Given the description of an element on the screen output the (x, y) to click on. 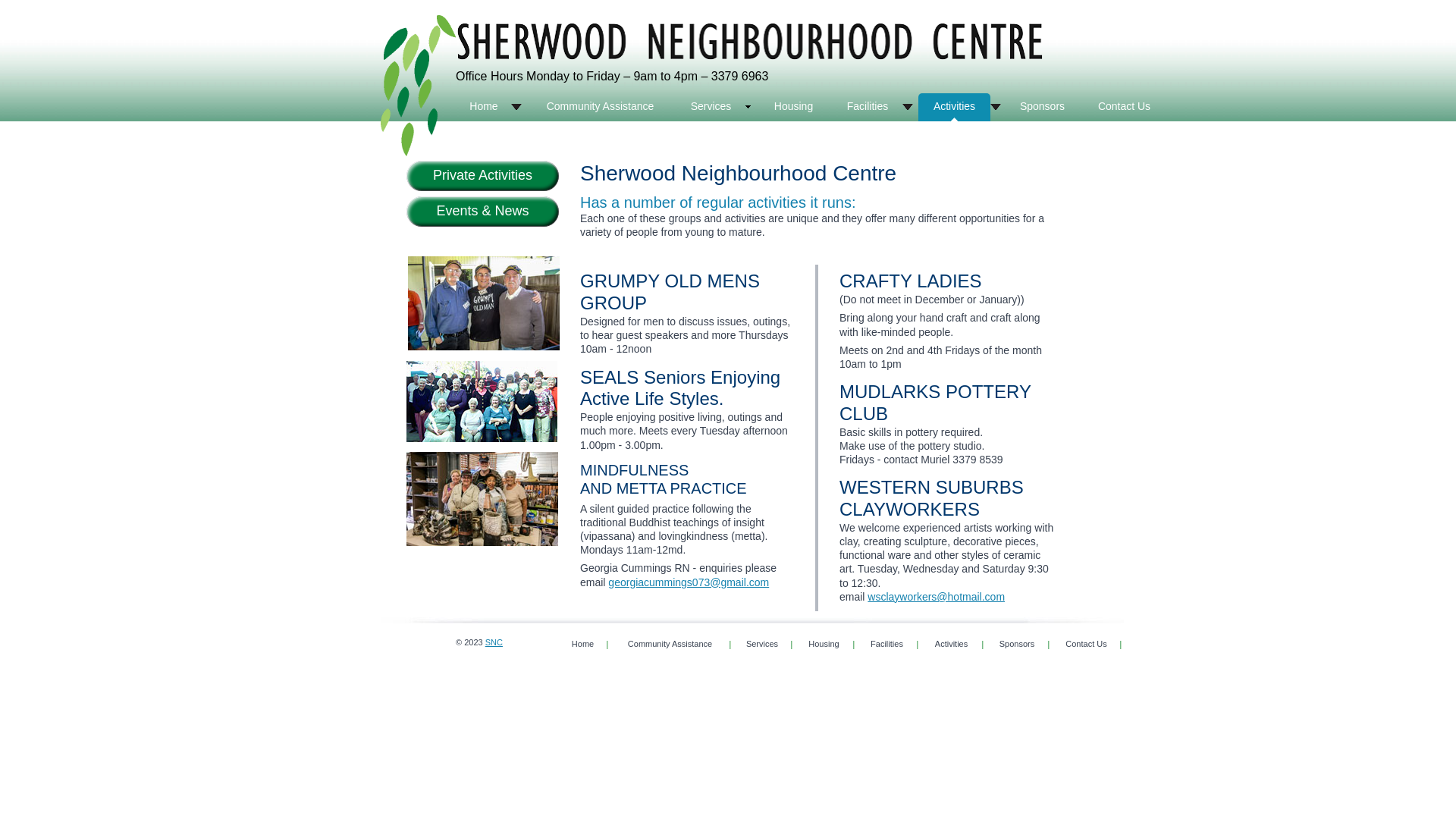
Home Element type: text (583, 643)
Sponsors Element type: text (1042, 107)
wsclayworkers@hotmail.com Element type: text (935, 596)
Community Assistance Element type: text (670, 643)
Services Element type: text (716, 107)
Events & News Element type: text (482, 211)
Contact Us Element type: text (1123, 107)
Housing Element type: text (793, 107)
Services Element type: text (762, 643)
Sponsors Element type: text (1017, 643)
Activities Element type: text (951, 643)
Activities Element type: text (959, 107)
Contact Us Element type: text (1086, 643)
Facilities Element type: text (872, 107)
Home Element type: text (489, 107)
Housing Element type: text (823, 643)
Facilities Element type: text (887, 643)
georgiacummings073@gmail.com Element type: text (688, 582)
Community Assistance Element type: text (600, 107)
Private Activities Element type: text (482, 175)
SNC Element type: text (493, 641)
